Given the description of an element on the screen output the (x, y) to click on. 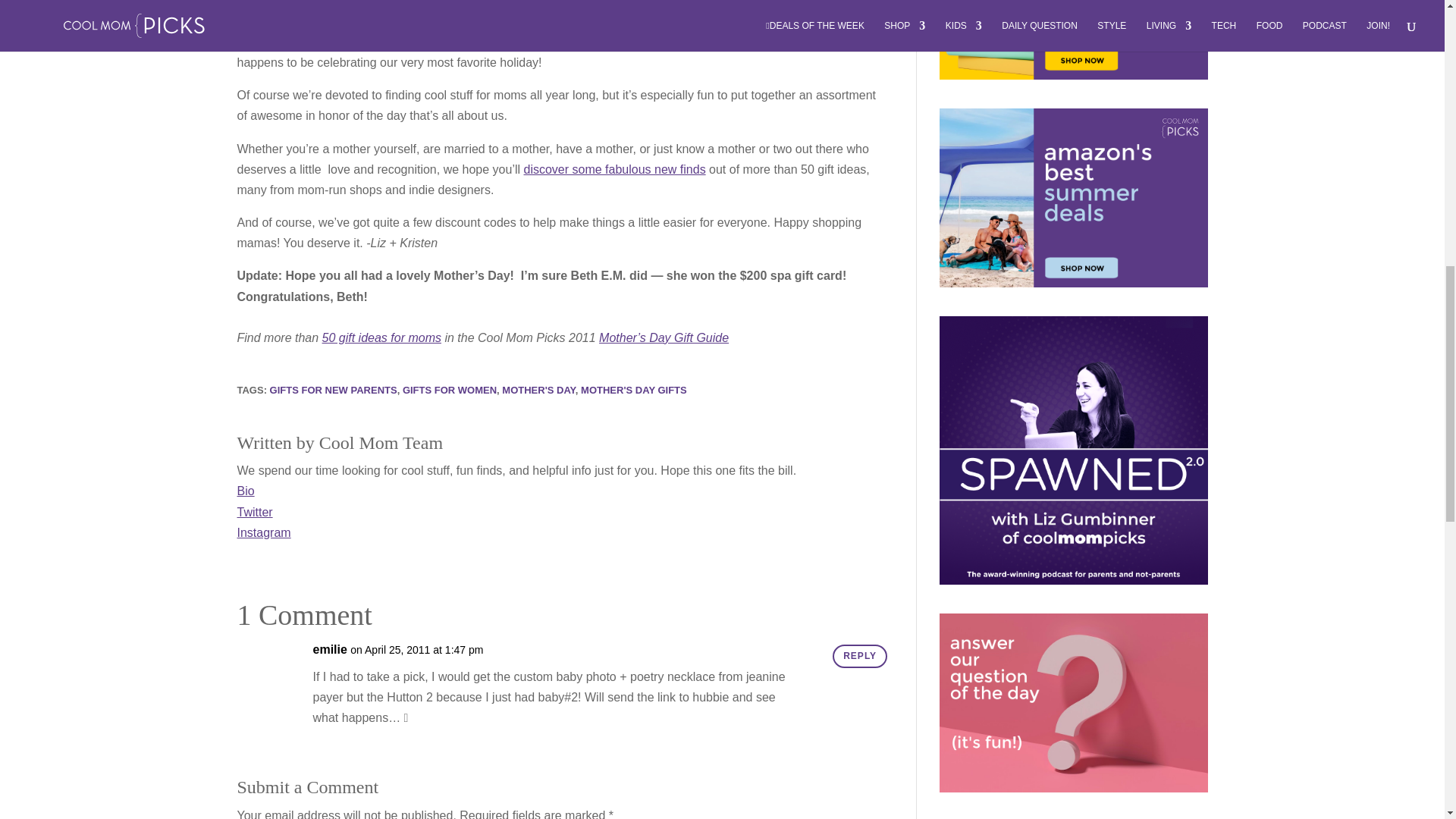
2011 Mother's Day gift guide (319, 41)
Amazon's best summer deals (1073, 197)
